Given the description of an element on the screen output the (x, y) to click on. 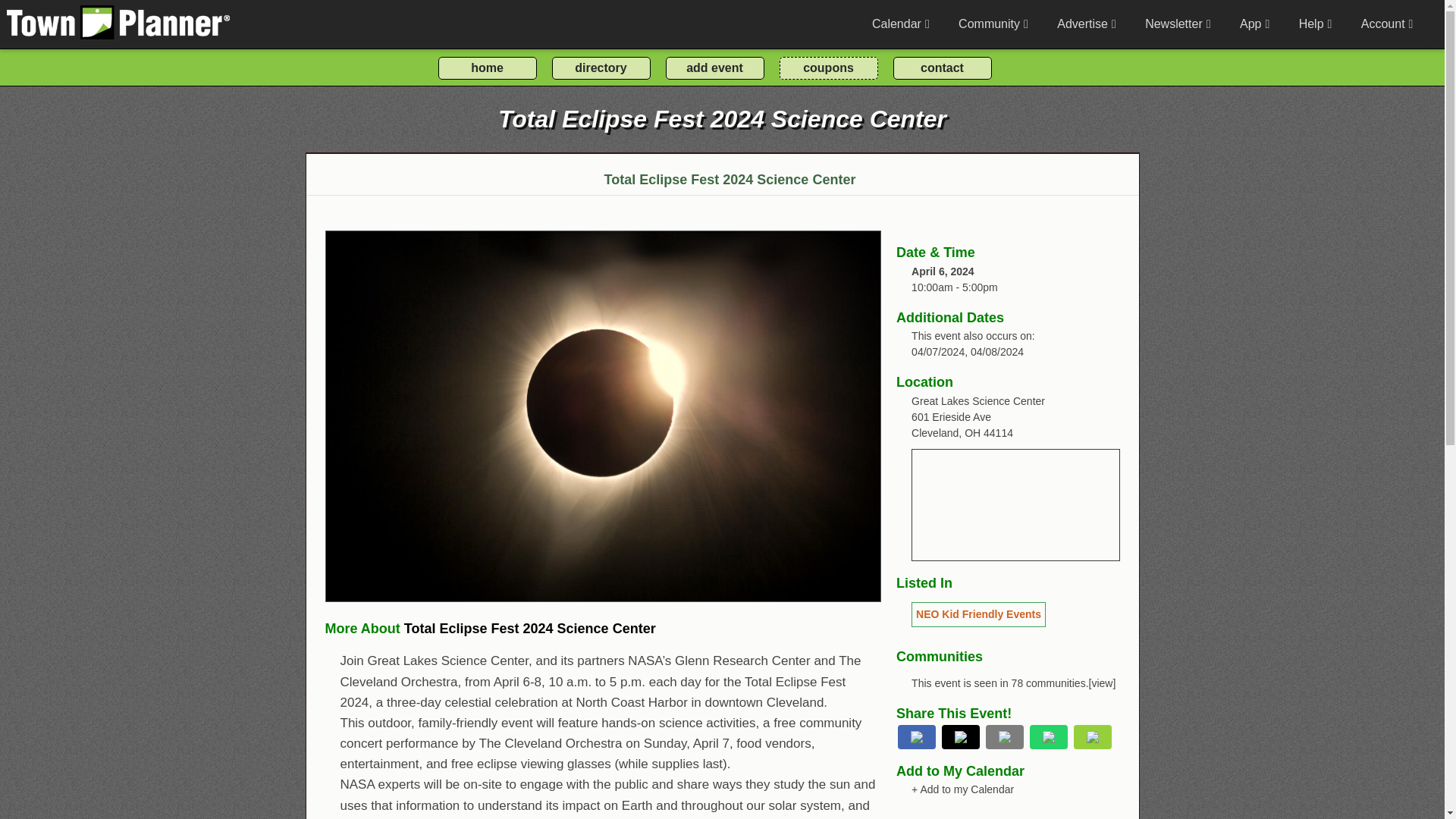
contact (942, 67)
add event (714, 67)
App (1254, 24)
Newsletter (1177, 24)
coupons (827, 67)
Calendar (900, 24)
home (487, 67)
Community (992, 24)
home (487, 67)
Advertise (1085, 24)
coupons (827, 67)
Help (1314, 24)
directory (600, 67)
Account (1386, 24)
directory (600, 67)
